Given the description of an element on the screen output the (x, y) to click on. 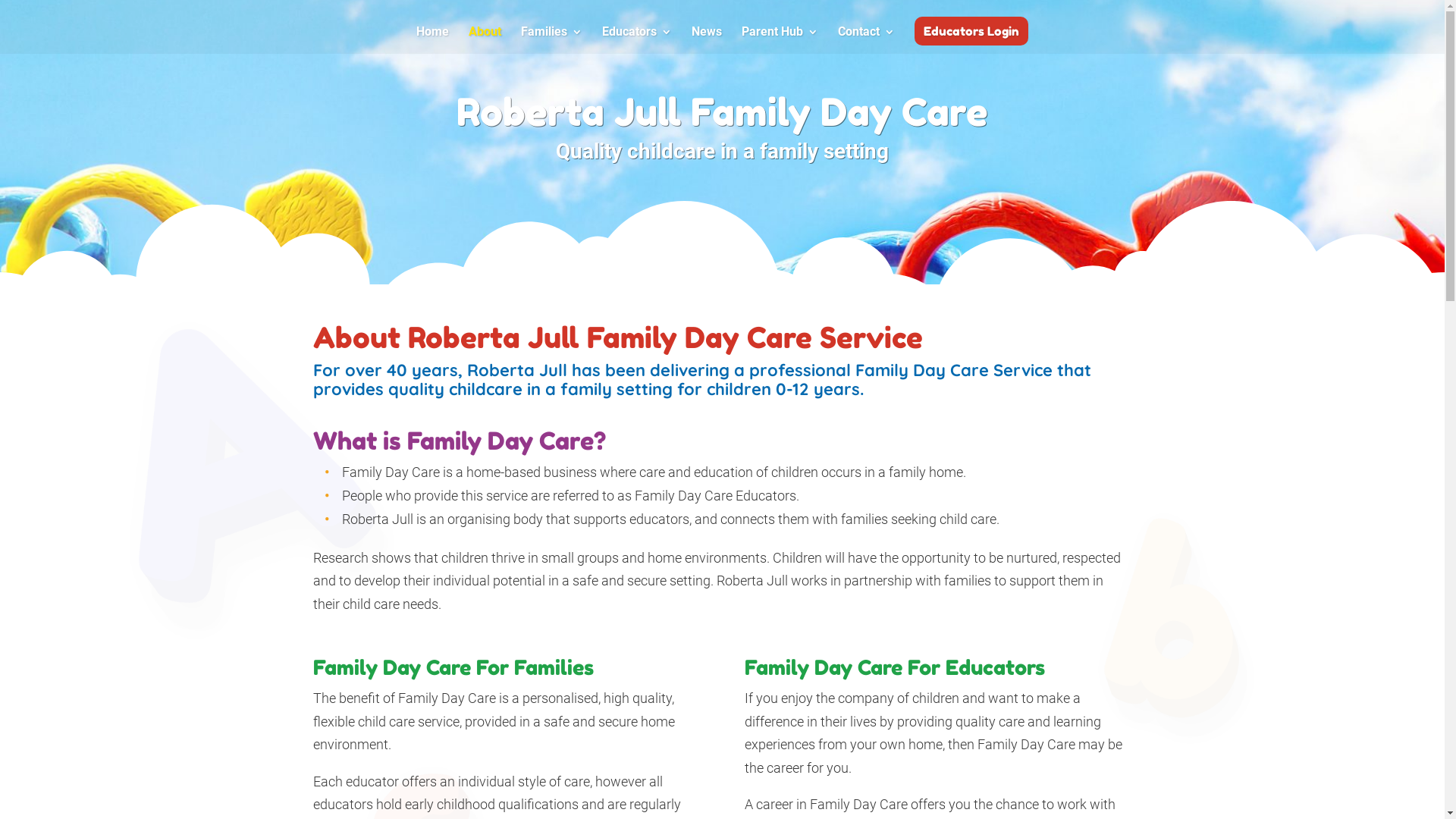
Parent Hub Element type: text (779, 39)
Educators Login Element type: text (971, 30)
Contact Element type: text (865, 39)
Educators Element type: text (636, 39)
News Element type: text (706, 39)
About Element type: text (484, 39)
Home Element type: text (432, 39)
Families Element type: text (551, 39)
